Given the description of an element on the screen output the (x, y) to click on. 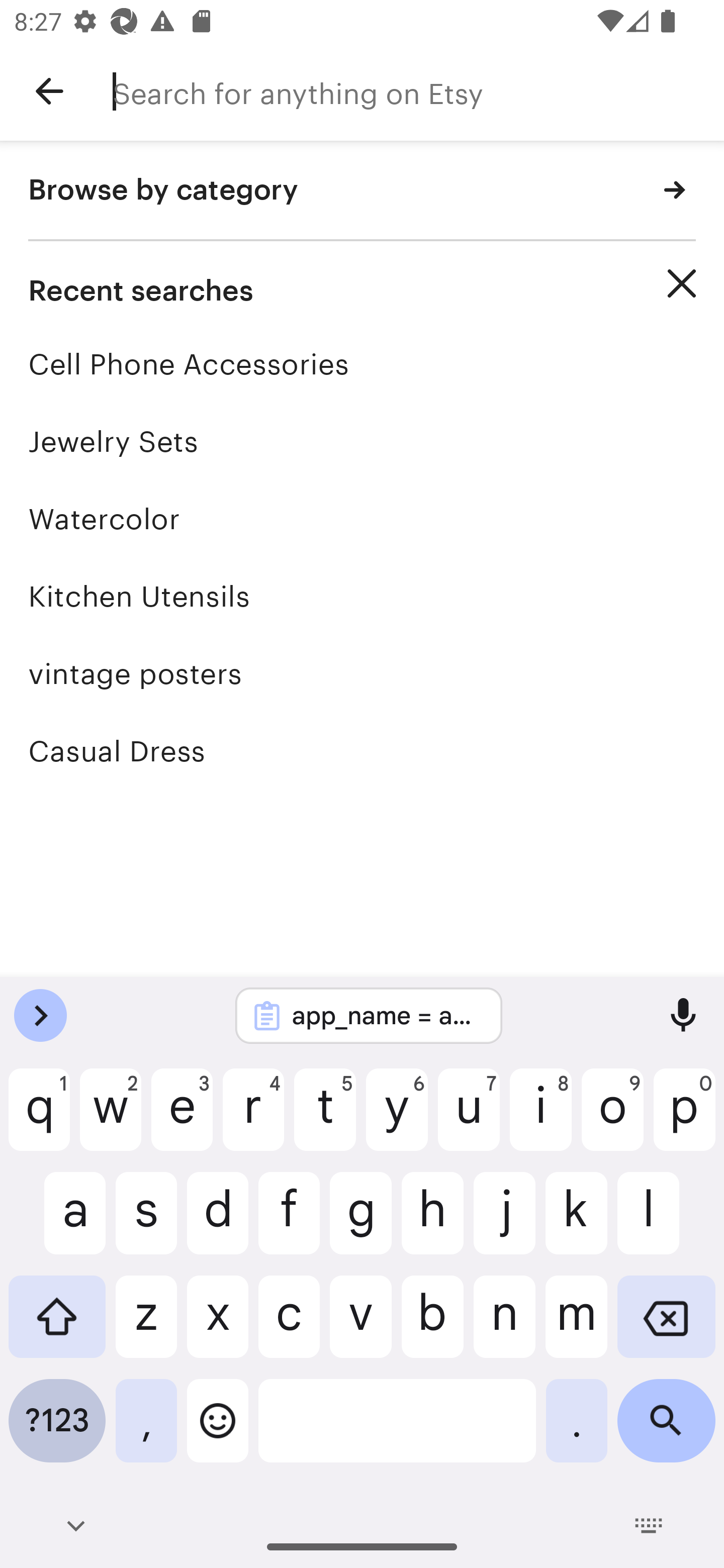
Navigate up (49, 91)
Search for anything on Etsy (418, 91)
Browse by category (362, 191)
Clear (681, 283)
Cell Phone Accessories (362, 364)
Jewelry Sets (362, 440)
Watercolor (362, 518)
Kitchen Utensils (362, 596)
vintage posters (362, 673)
Casual Dress (362, 750)
